Given the description of an element on the screen output the (x, y) to click on. 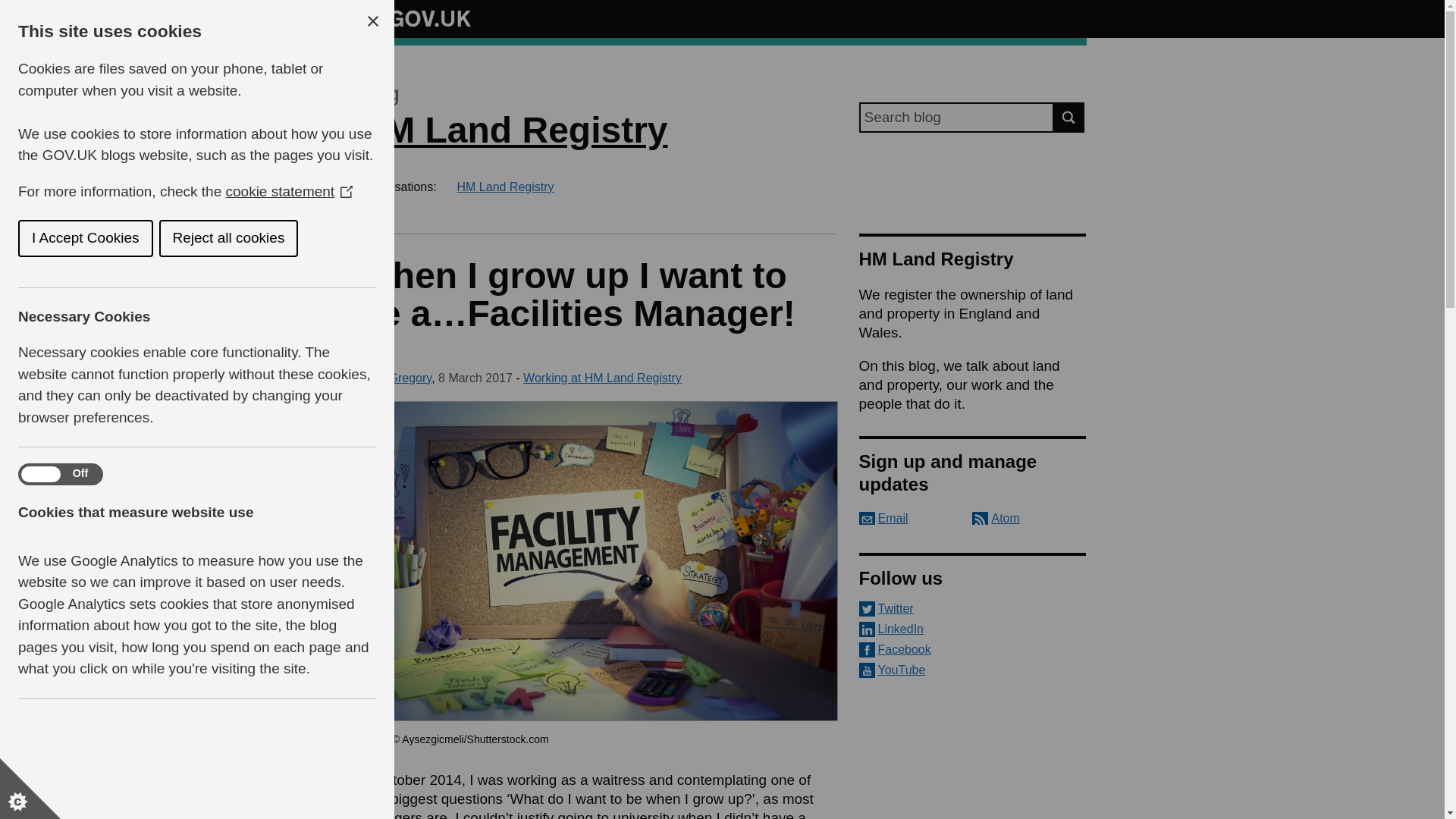
Search (1069, 117)
Reject all cookies (88, 238)
Leah Gregory (394, 377)
Facebook (972, 649)
Go to the GOV.UK homepage (414, 18)
Working at HM Land Registry (601, 377)
Skip to main content (11, 7)
Posts by Leah Gregory (394, 377)
Search (1069, 117)
HM Land Registry (505, 186)
